Given the description of an element on the screen output the (x, y) to click on. 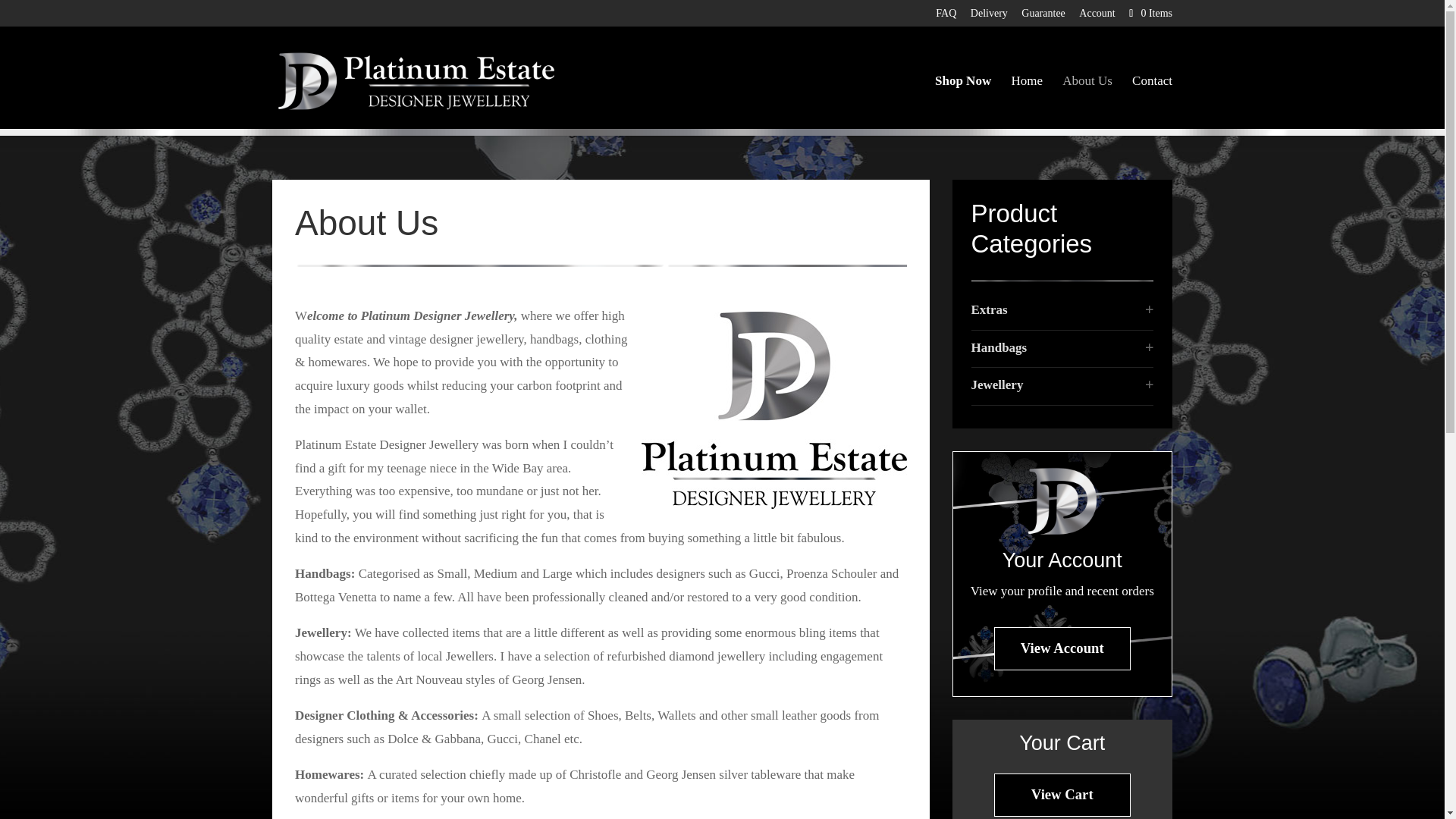
Account (1096, 16)
FAQ (946, 16)
Home (1026, 105)
About Us (1087, 105)
Jewellery (997, 384)
Handbags (998, 347)
Guarantee (1043, 16)
Delivery (989, 16)
Shop Now (962, 105)
0 Items (1149, 12)
Extras (989, 309)
Contact (1152, 105)
